Given the description of an element on the screen output the (x, y) to click on. 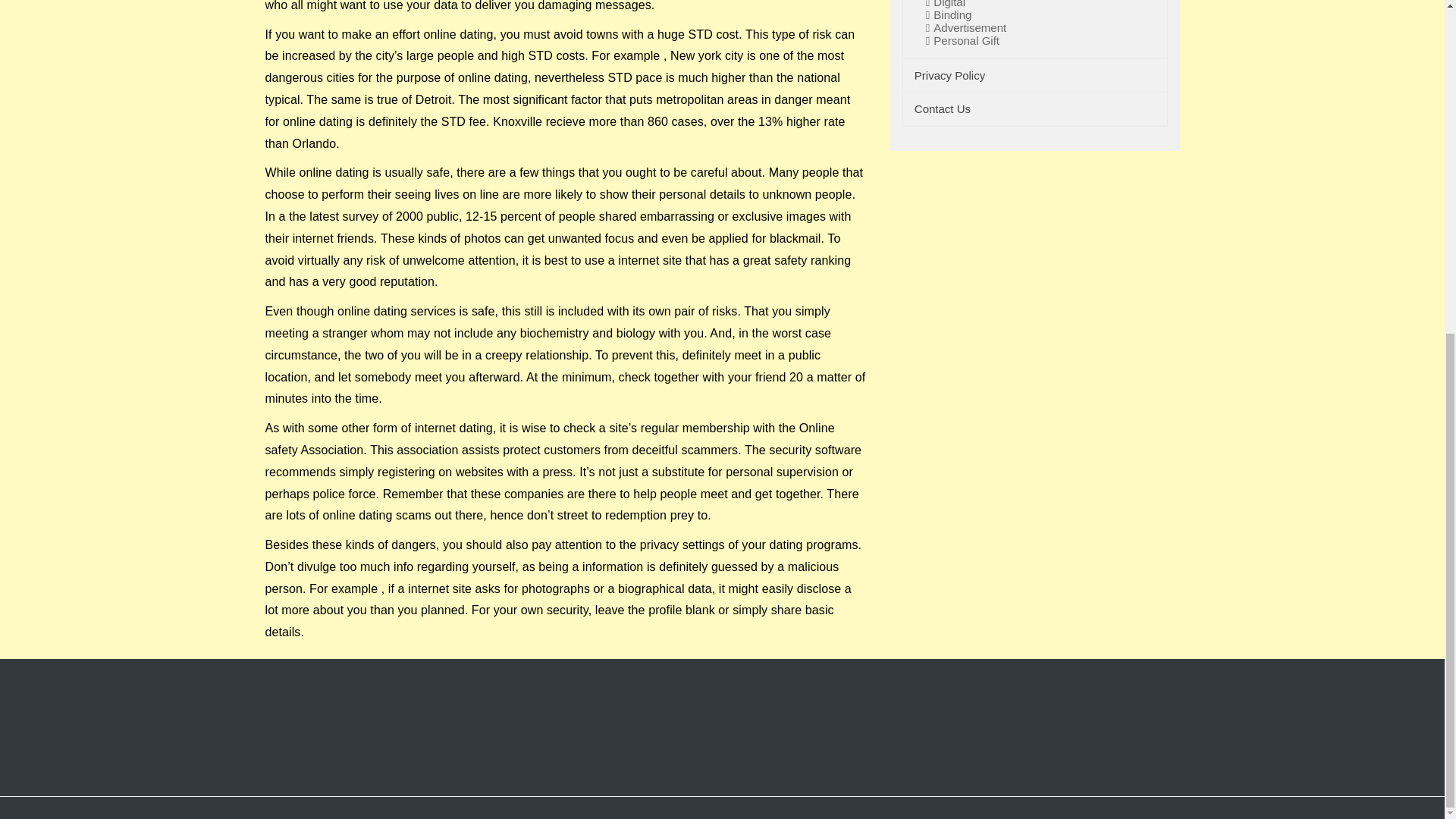
Binding (946, 15)
Personal Gift (959, 40)
Privacy Policy (949, 74)
Contact Us (942, 108)
Digital (943, 4)
Advertisement (963, 28)
